Given the description of an element on the screen output the (x, y) to click on. 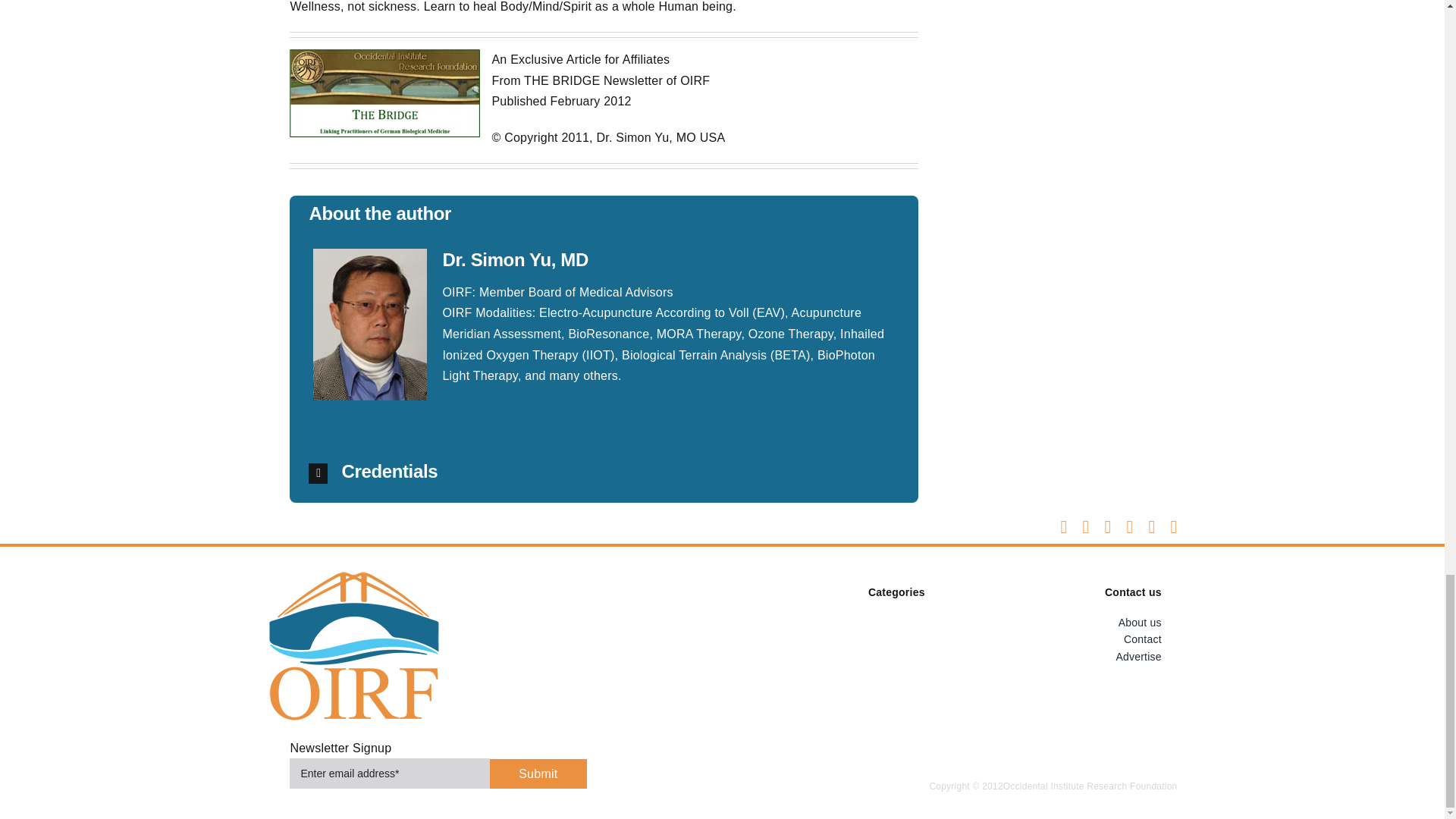
OIRFLogo1 (437, 770)
Credentials (353, 645)
